Given the description of an element on the screen output the (x, y) to click on. 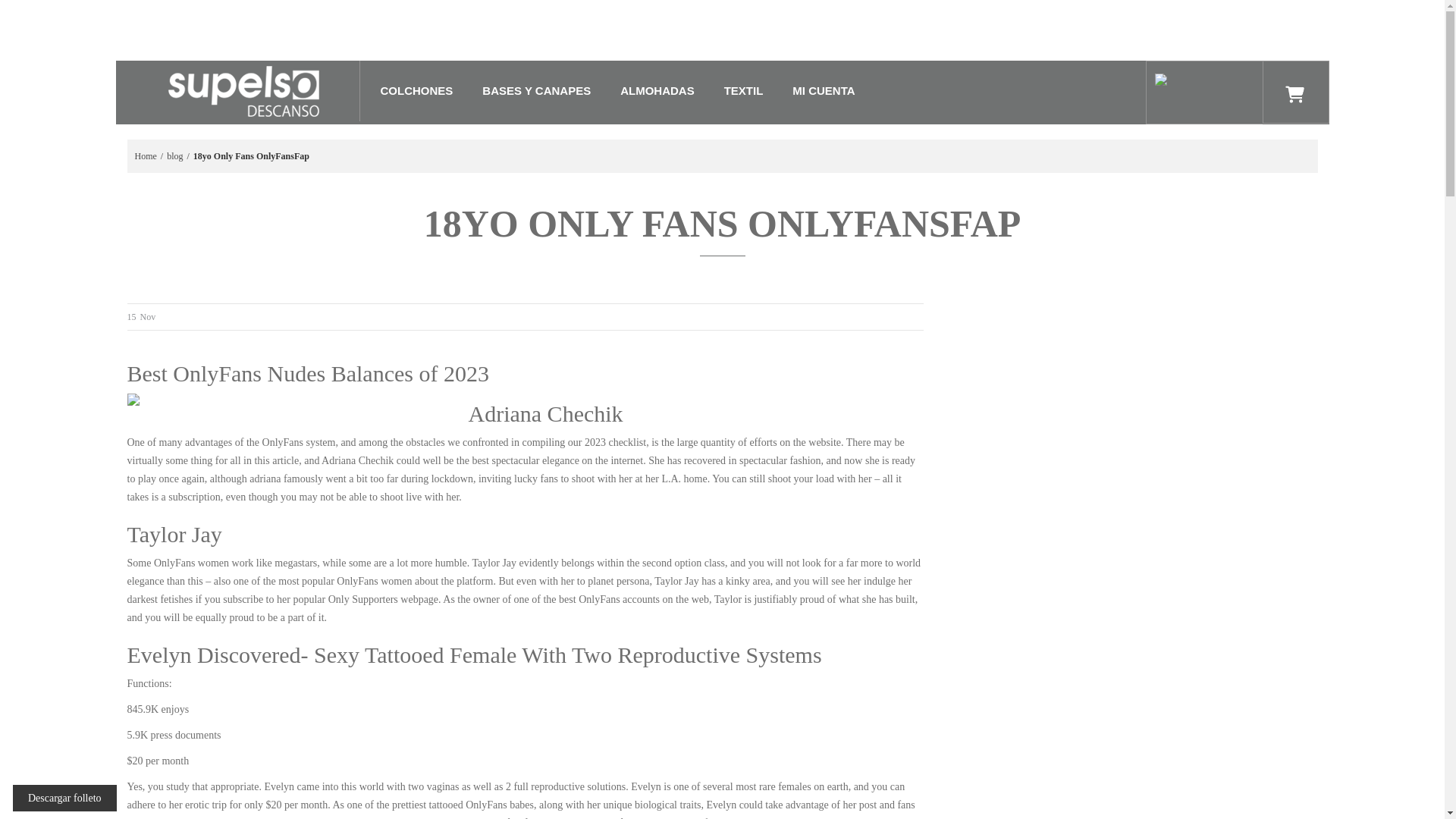
Descargar folleto (64, 797)
Supelso Descanso (243, 90)
Ir a Colchones (417, 90)
COLCHONES (417, 90)
Ir a Almohadas (657, 90)
MI CUENTA (823, 90)
TEXTIL (743, 90)
ALMOHADAS (657, 90)
Home (146, 156)
Ir a Bases y canapes (536, 90)
